Given the description of an element on the screen output the (x, y) to click on. 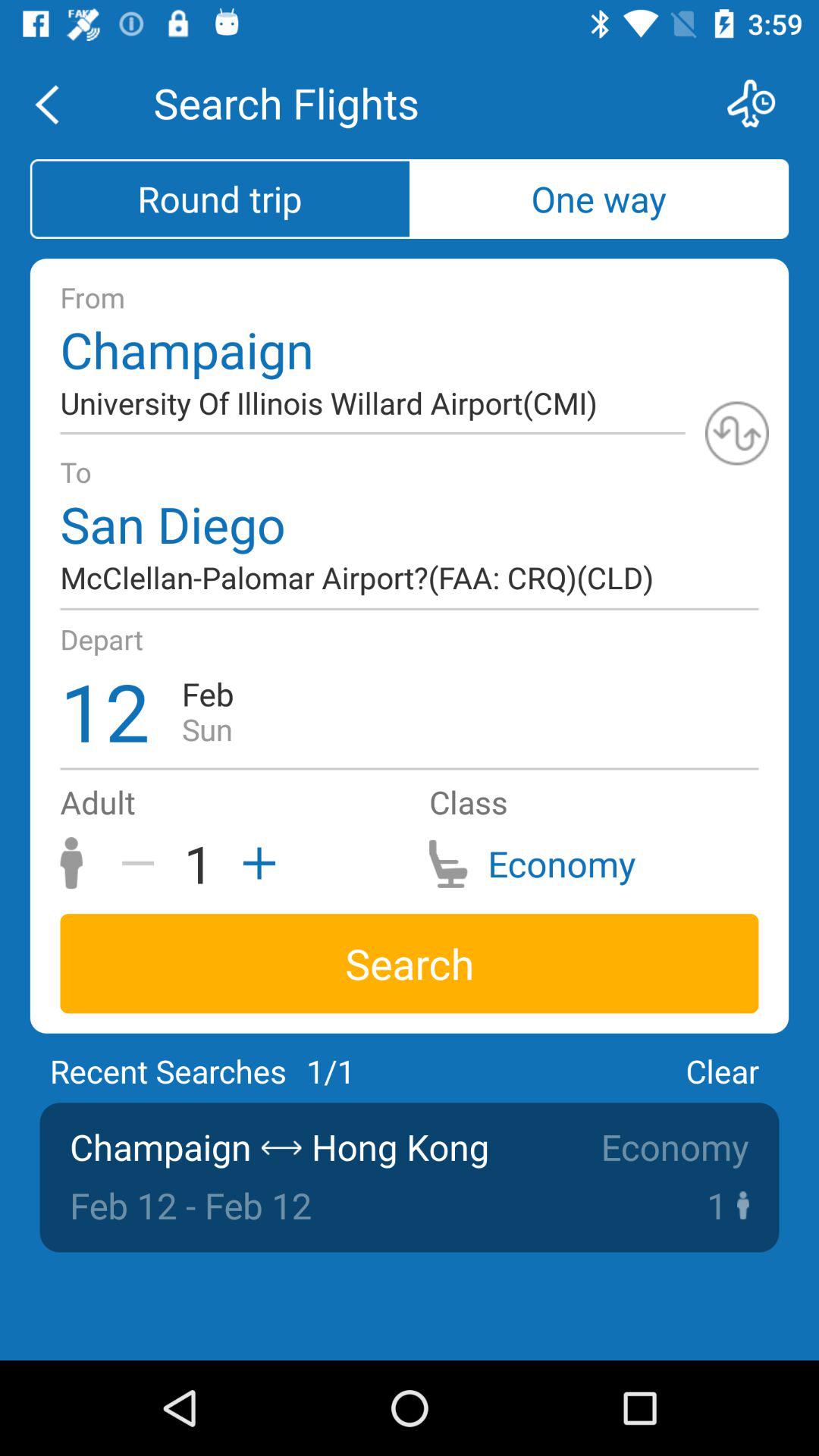
press the item above the round trip (55, 103)
